Given the description of an element on the screen output the (x, y) to click on. 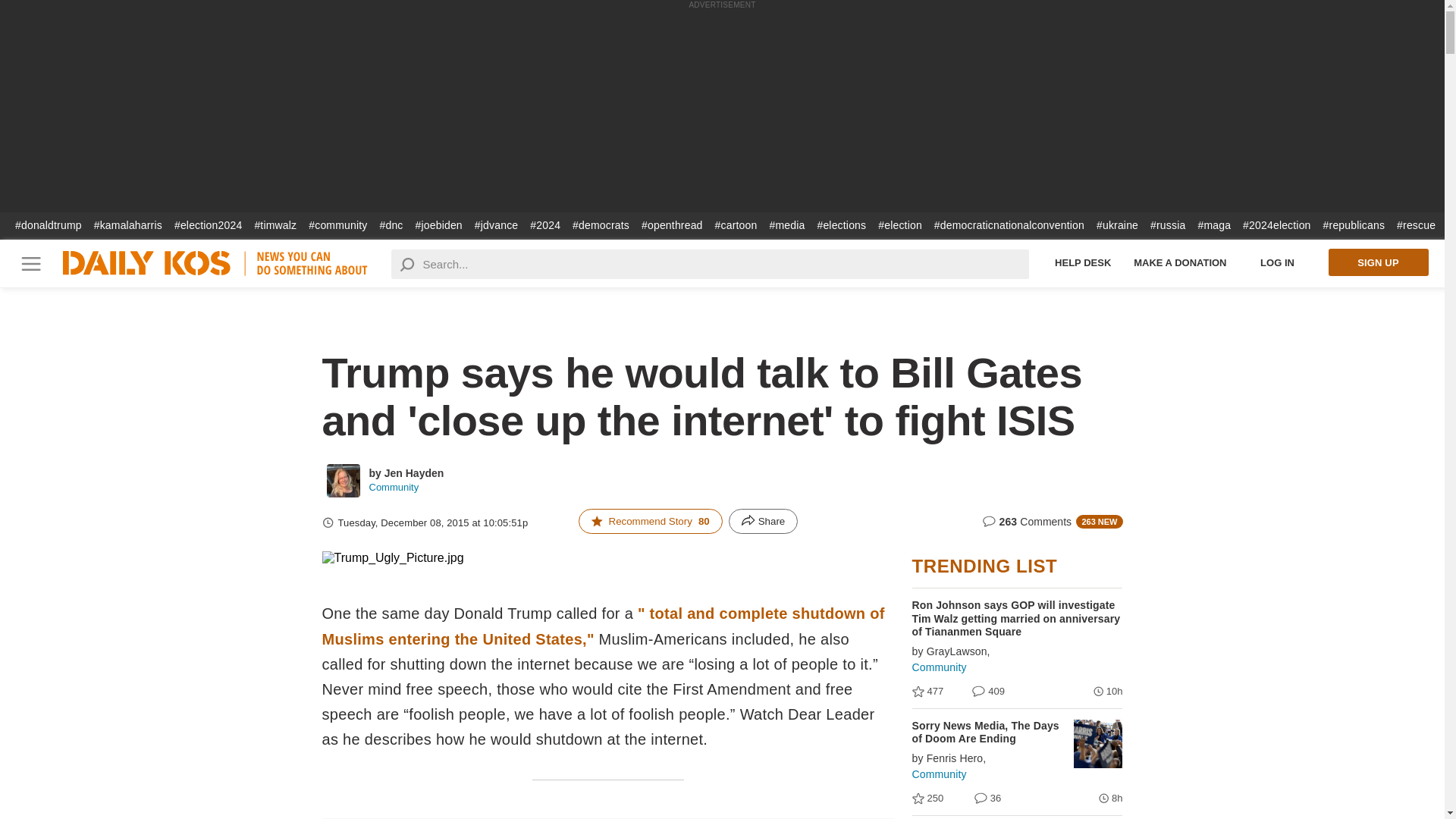
Make a Donation (1179, 262)
Help Desk (1082, 262)
MAKE A DONATION (1179, 262)
